Given the description of an element on the screen output the (x, y) to click on. 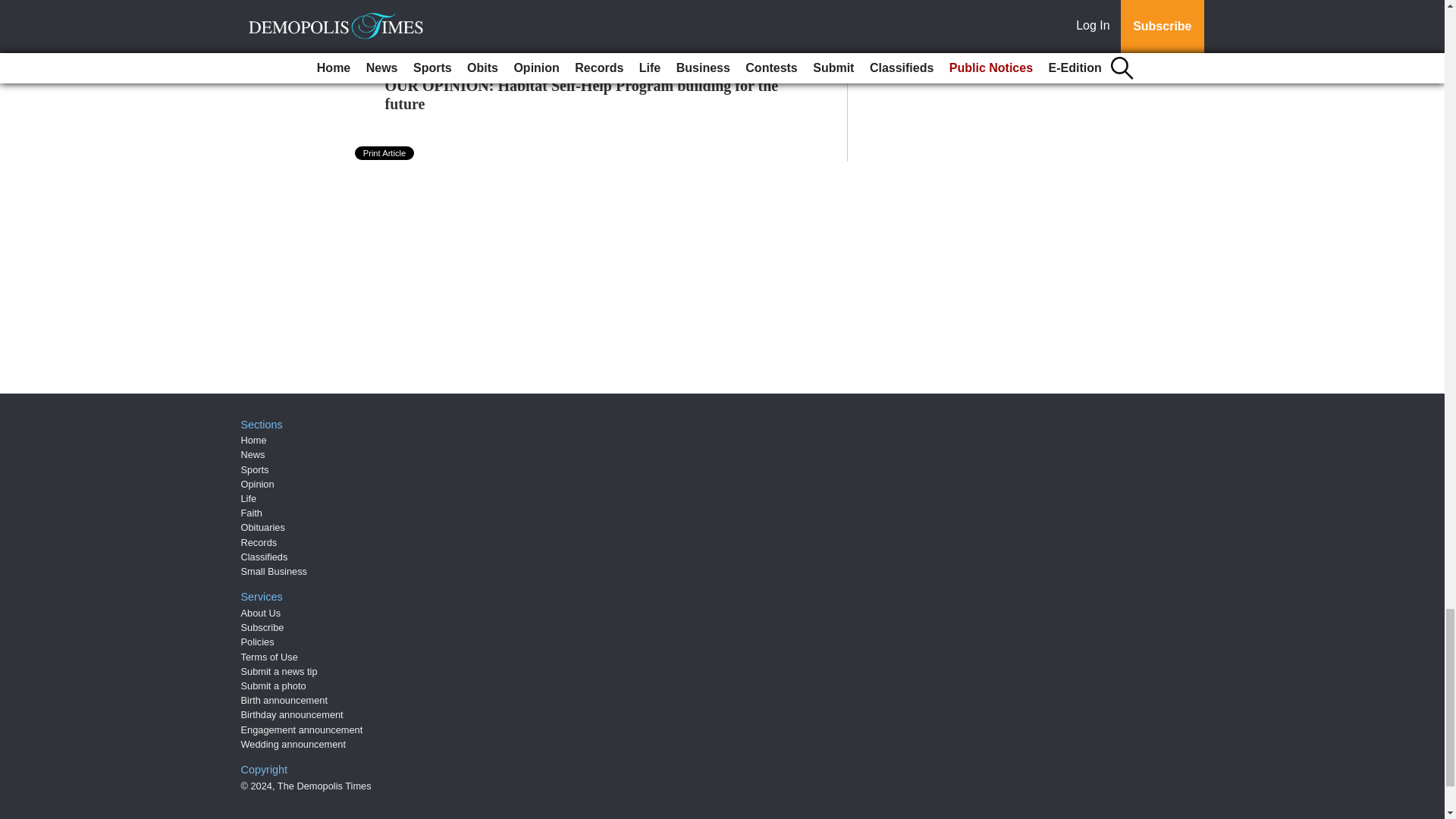
Print Article (384, 152)
News (252, 454)
Opinion (258, 483)
Sports (255, 469)
Home (253, 439)
